Given the description of an element on the screen output the (x, y) to click on. 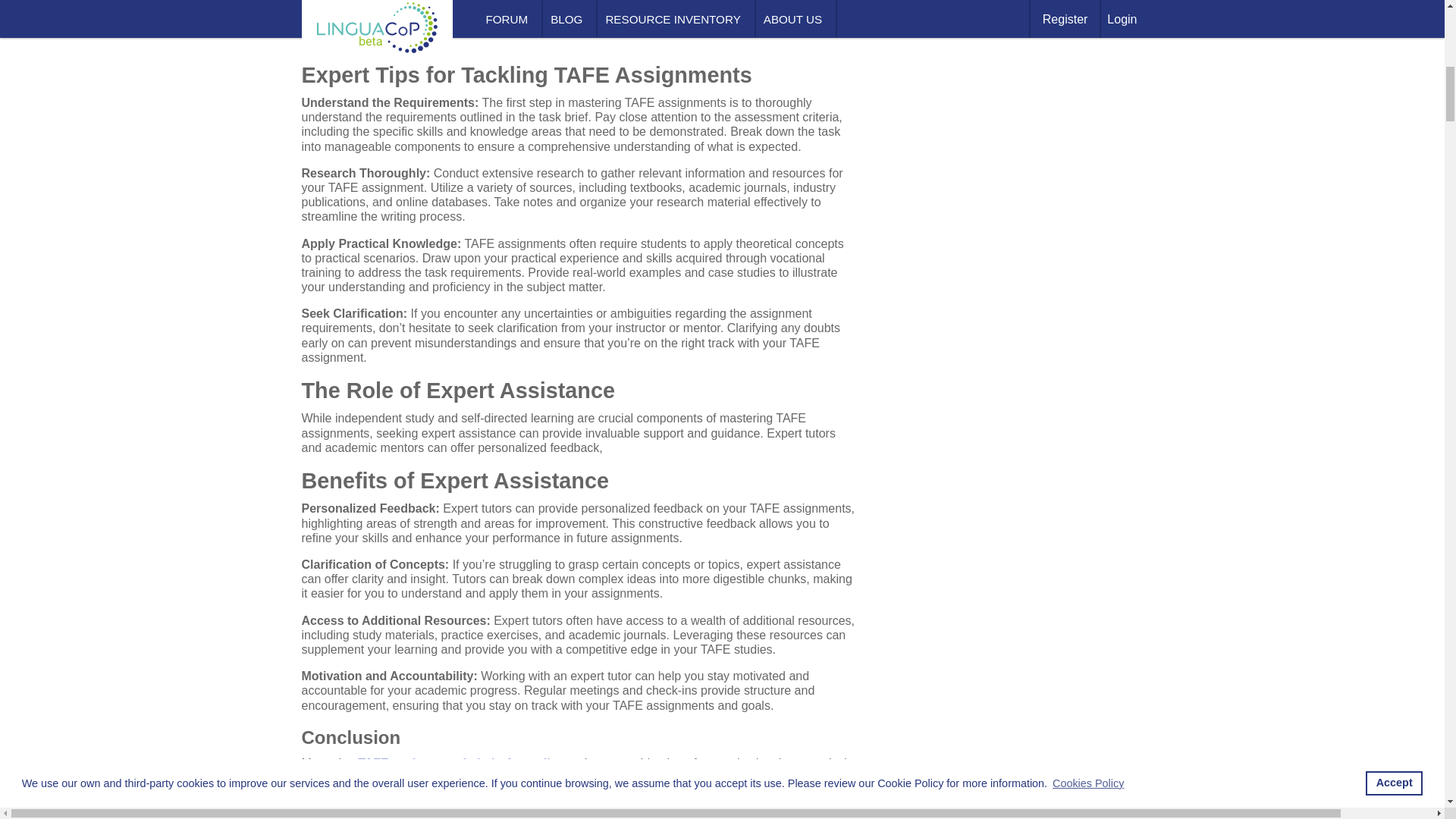
TAFE assignment help in Australia (459, 762)
